Given the description of an element on the screen output the (x, y) to click on. 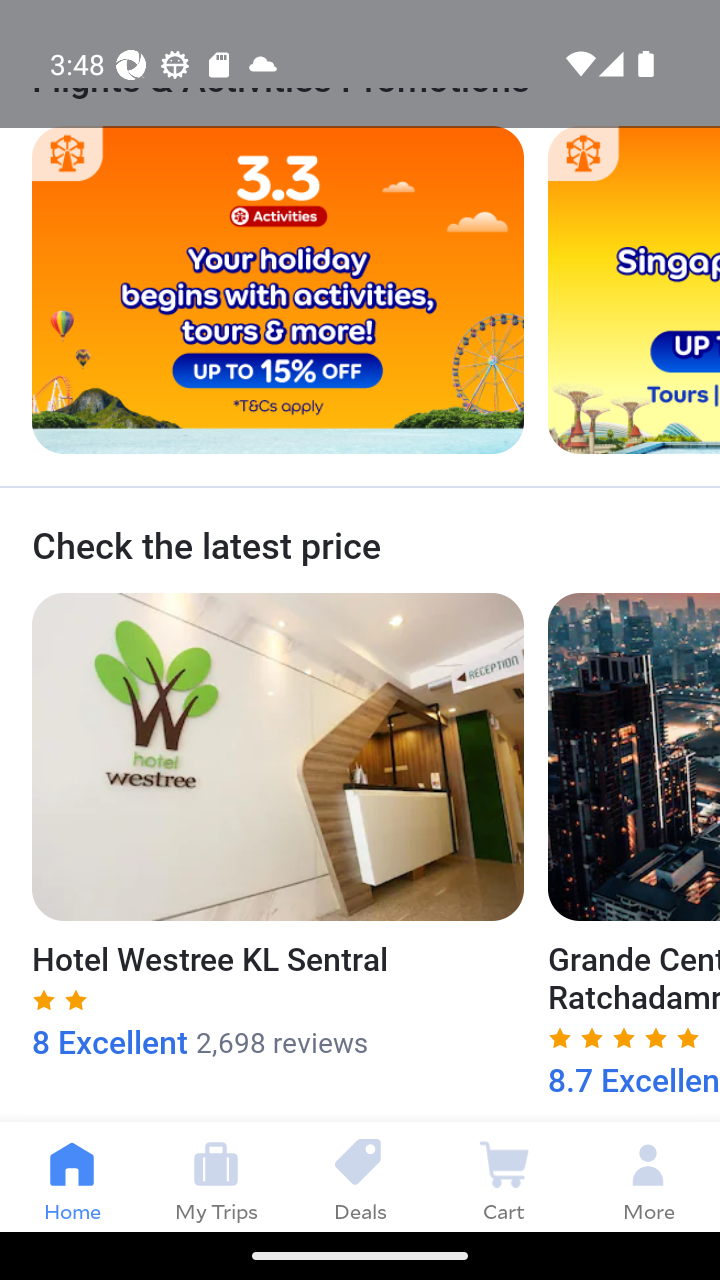
Hotel Westree KL Sentral 8 Excellent 2,698 reviews (277, 827)
Home (72, 1176)
My Trips (216, 1176)
Deals (360, 1176)
Cart (504, 1176)
More (648, 1176)
